Given the description of an element on the screen output the (x, y) to click on. 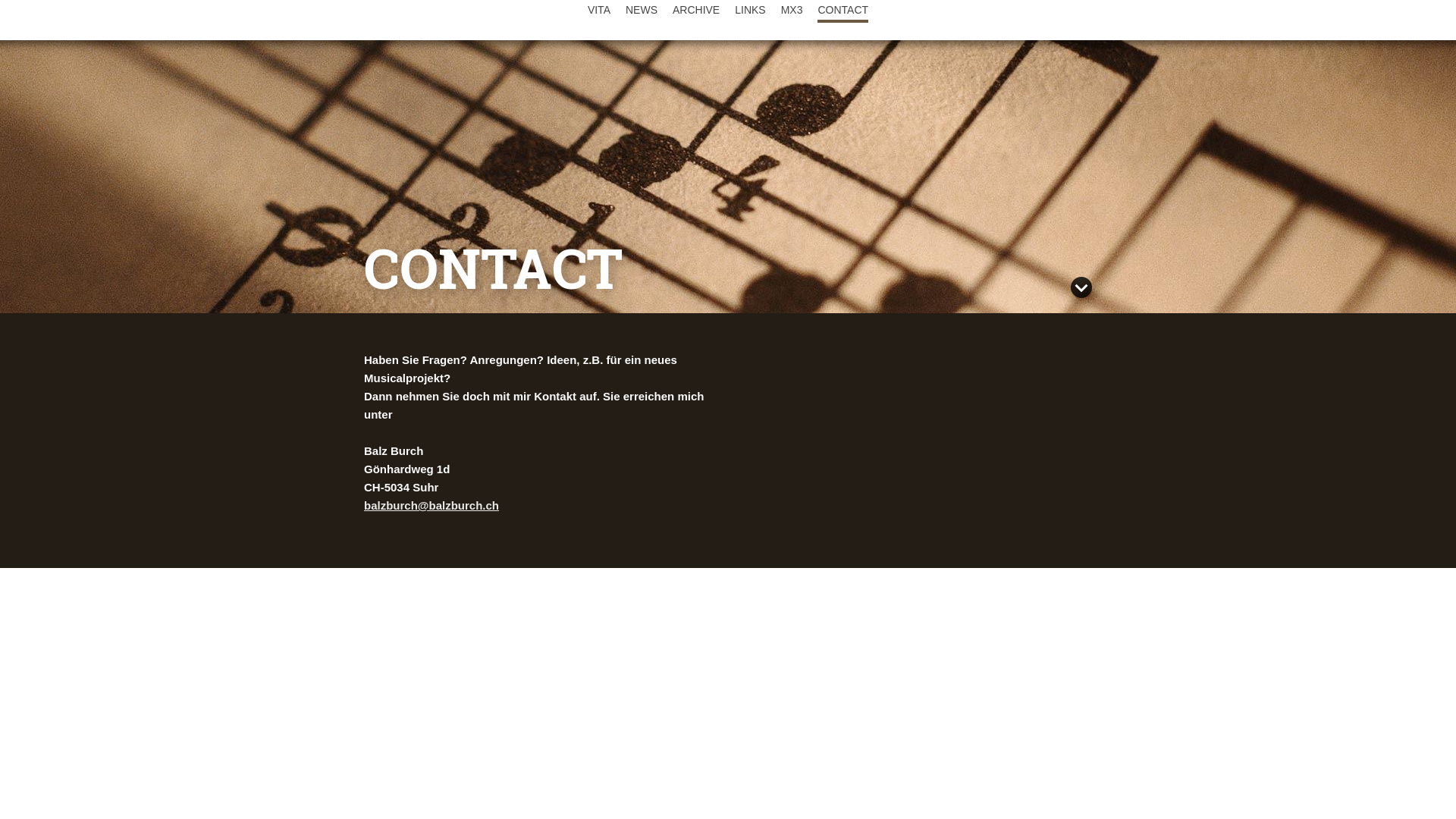
LINKS Element type: text (749, 9)
MX3 Element type: text (792, 9)
balzburch@balzburch.ch Element type: text (431, 504)
CONTACT Element type: text (842, 9)
VITA Element type: text (598, 9)
ARCHIVE Element type: text (695, 9)
NEWS Element type: text (641, 9)
